Given the description of an element on the screen output the (x, y) to click on. 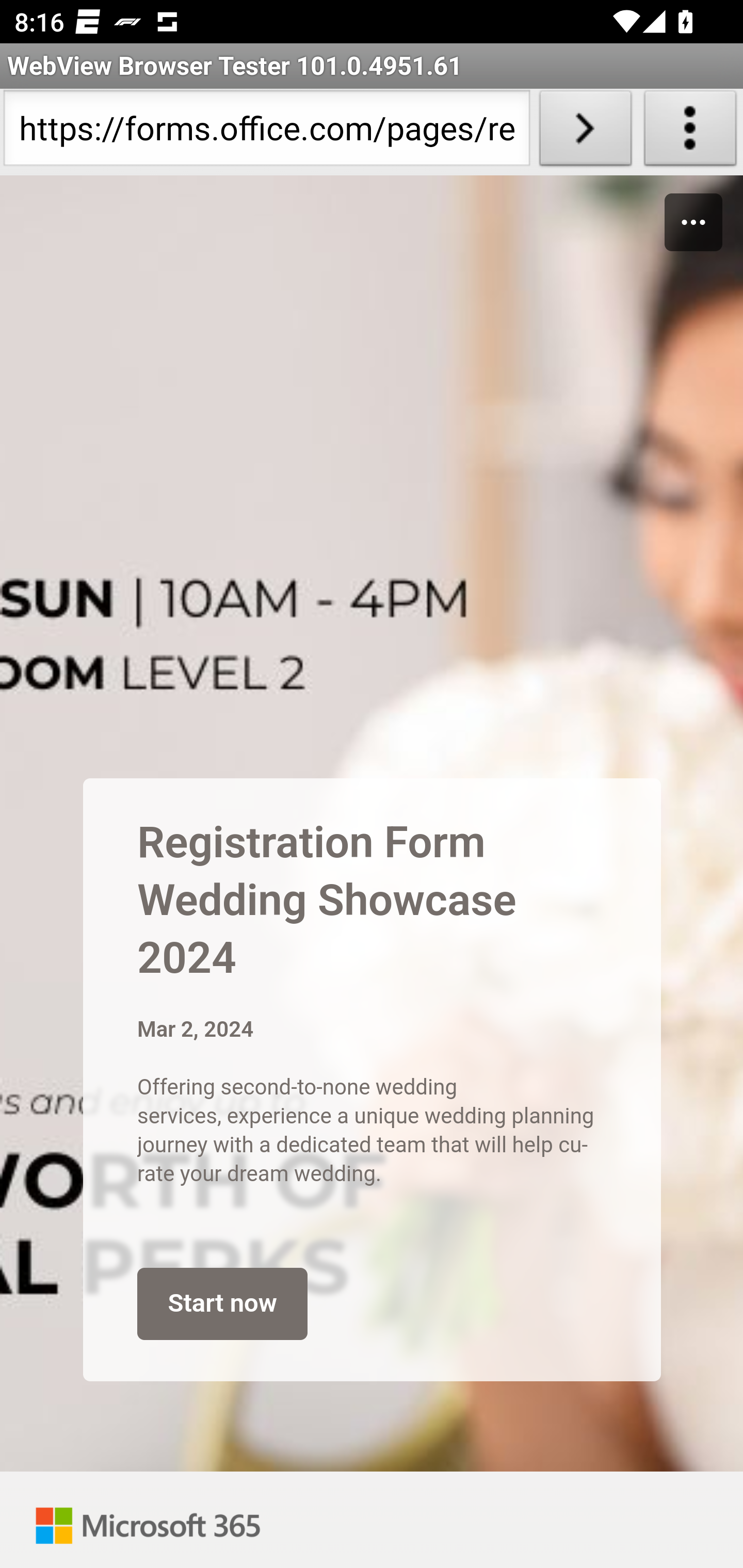
Load URL (585, 132)
About WebView (690, 132)
Microsoft 365 (148, 1519)
